Given the description of an element on the screen output the (x, y) to click on. 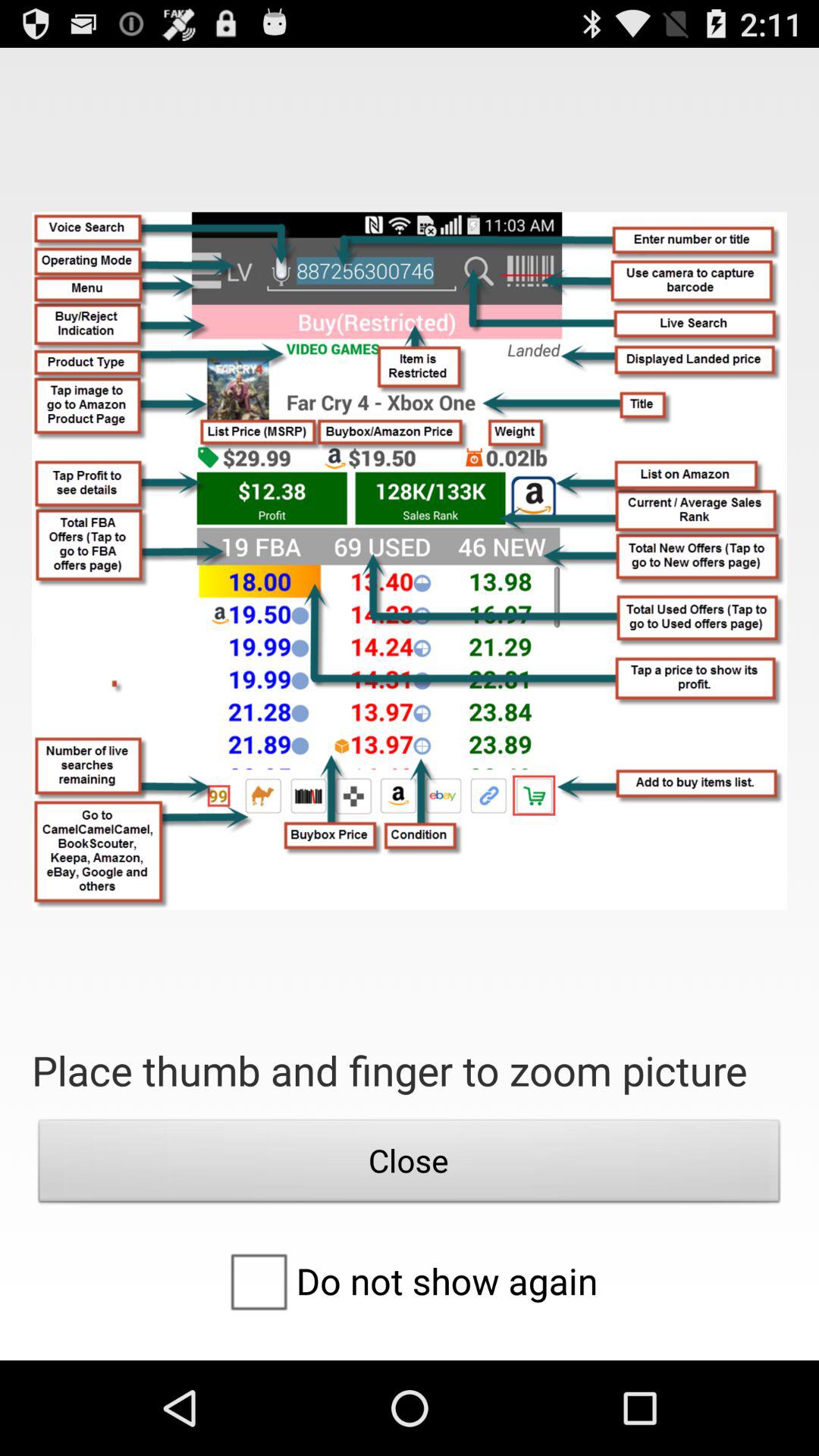
press checkbox above the do not show item (409, 1165)
